Given the description of an element on the screen output the (x, y) to click on. 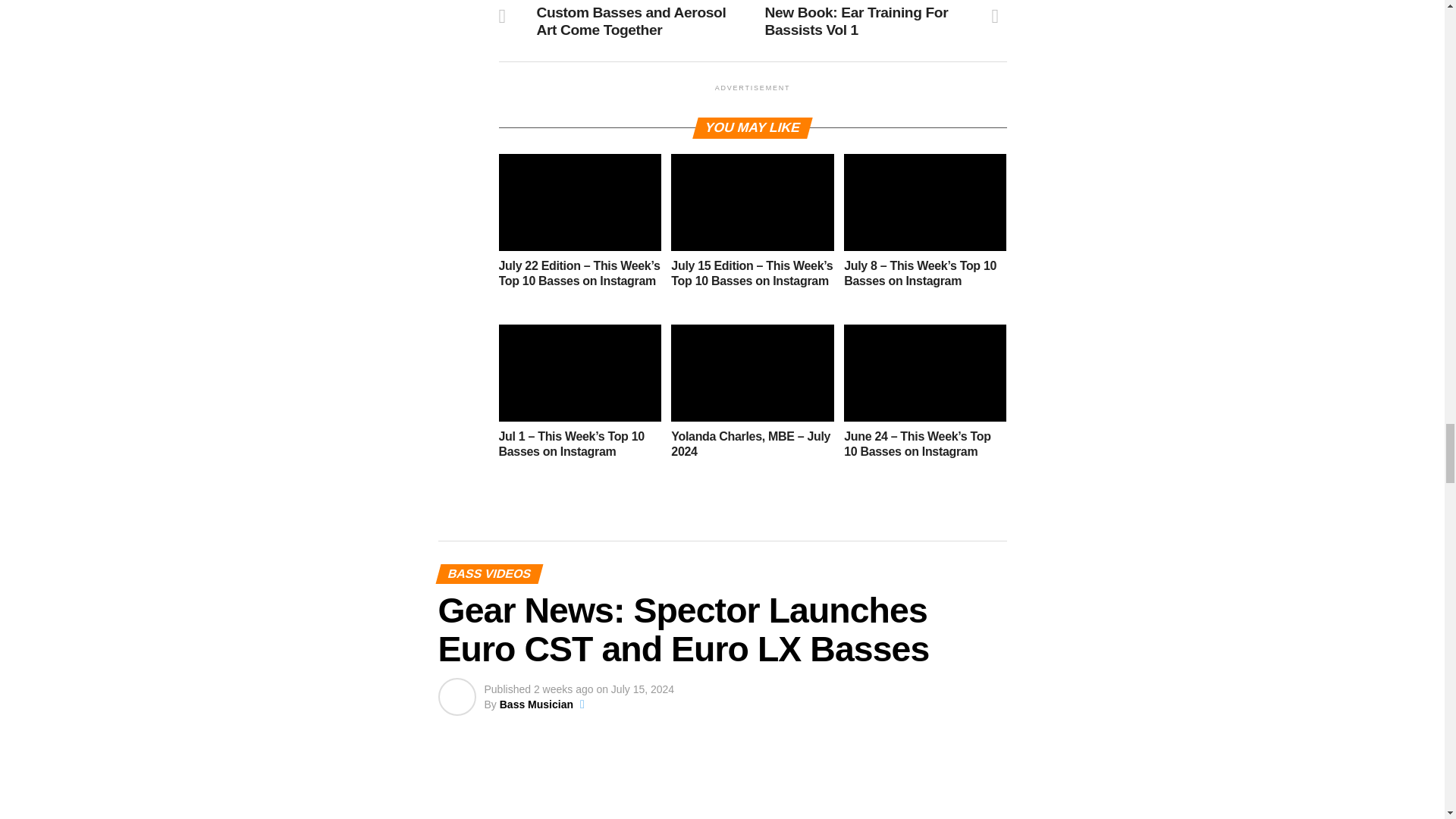
Posts by Bass Musician (536, 704)
